Given the description of an element on the screen output the (x, y) to click on. 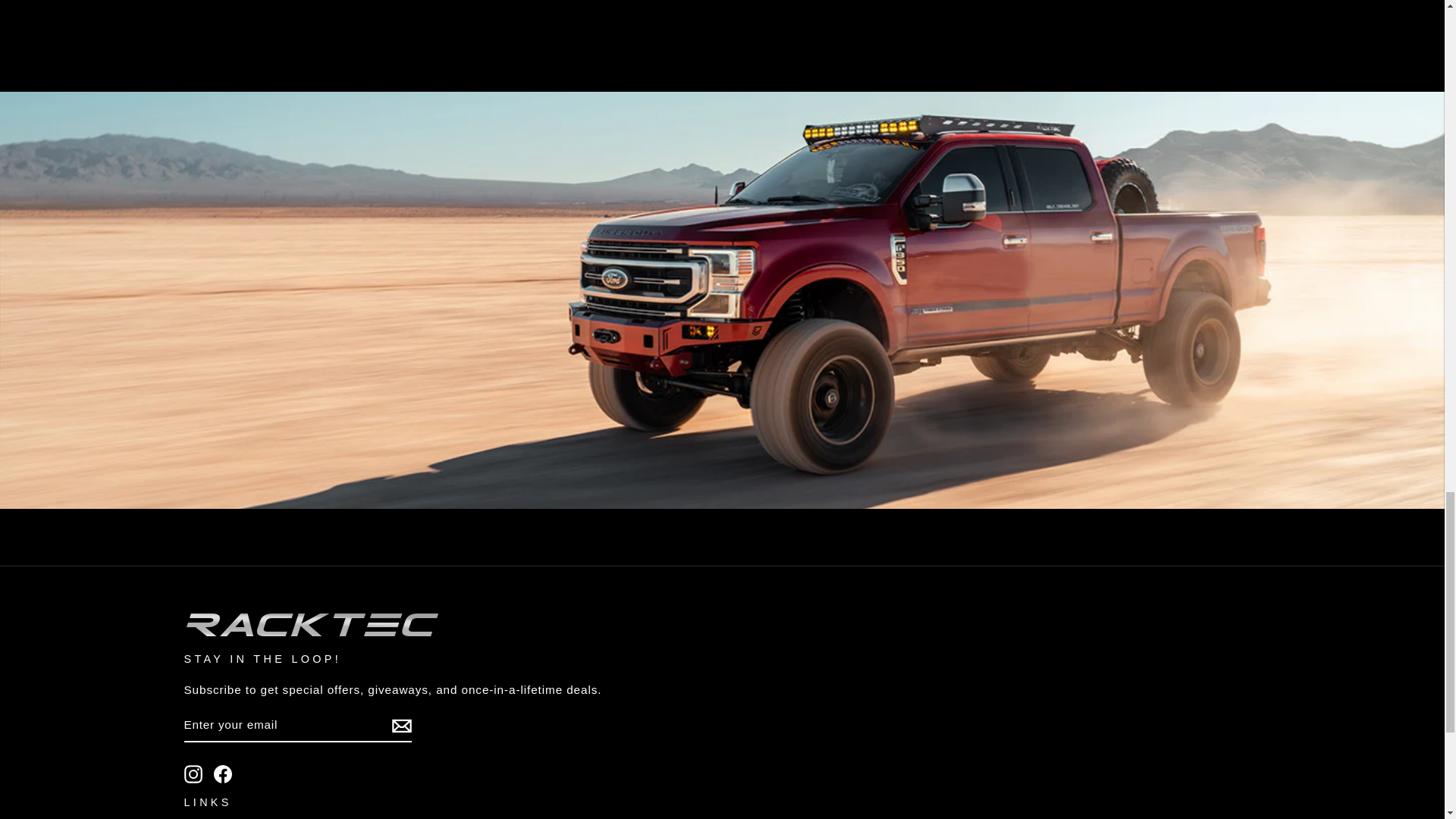
RACKTEC on Instagram (192, 773)
RACKTEC on Facebook (222, 773)
